Given the description of an element on the screen output the (x, y) to click on. 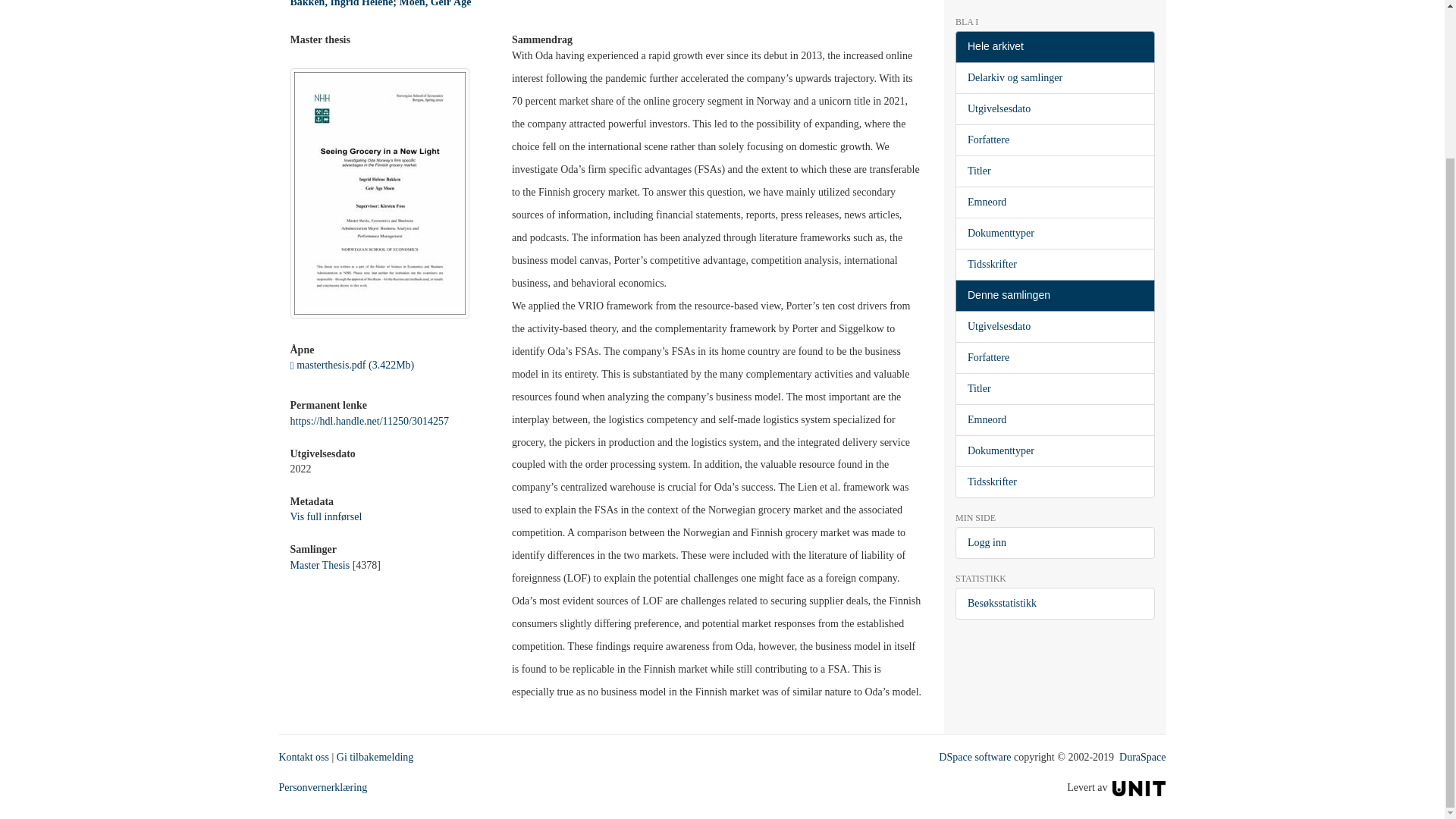
Hele arkivet (1054, 47)
Titler (1054, 171)
Utgivelsesdato (1054, 109)
Delarkiv og samlinger (1054, 78)
Bakken, Ingrid Helene (341, 3)
Master Thesis (319, 564)
Unit (1139, 787)
Forfattere (1054, 140)
